Given the description of an element on the screen output the (x, y) to click on. 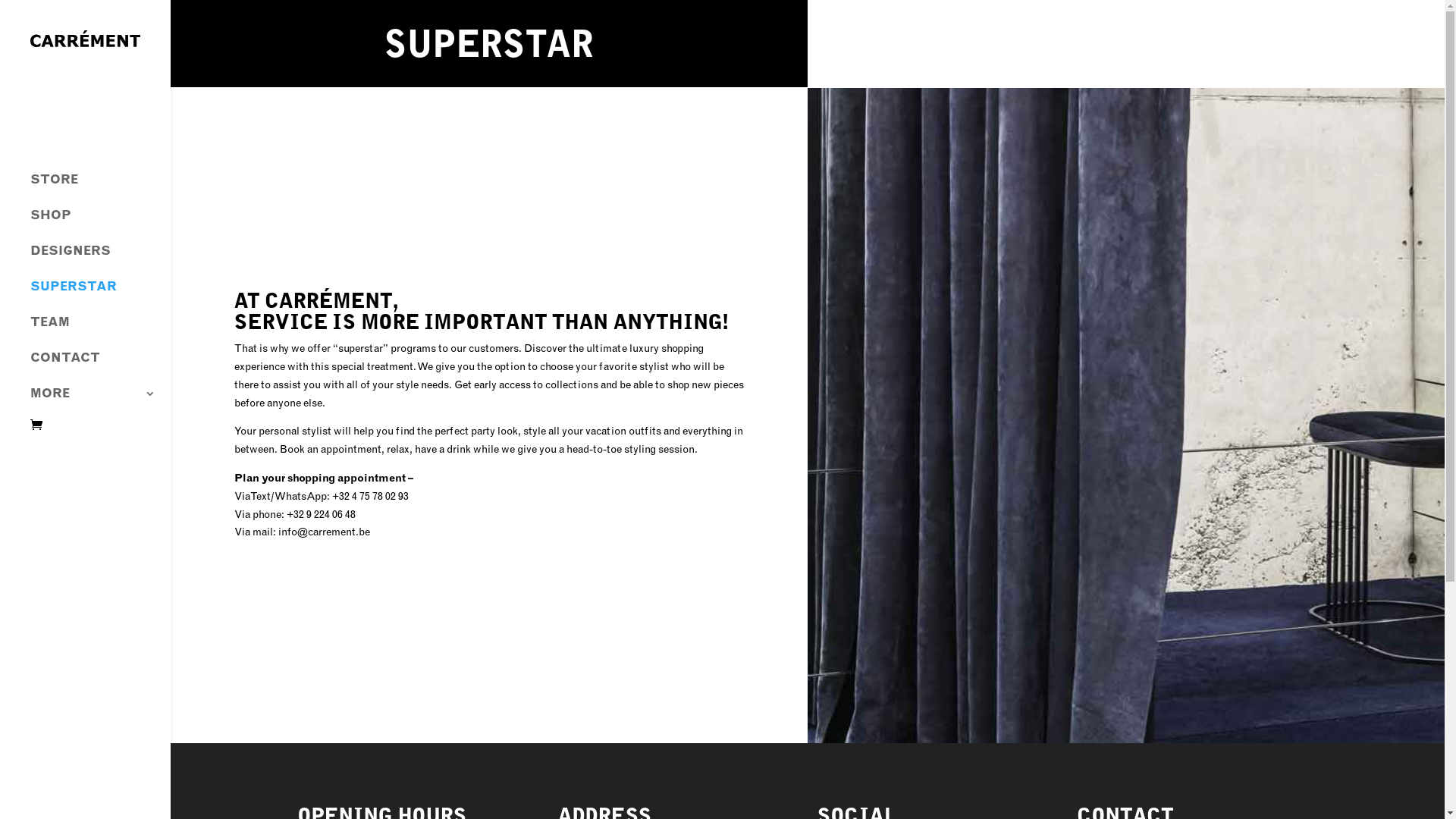
STORE Element type: text (100, 185)
+32 9 224 06 48 Element type: text (320, 514)
MORE Element type: text (100, 399)
+32 4 75 78 02 93 Element type: text (370, 495)
TEAM Element type: text (100, 328)
DESIGNERS Element type: text (100, 257)
SUPERSTAR Element type: text (100, 293)
SHOP Element type: text (100, 222)
info@carrement.be Element type: text (324, 531)
CONTACT Element type: text (100, 364)
